Given the description of an element on the screen output the (x, y) to click on. 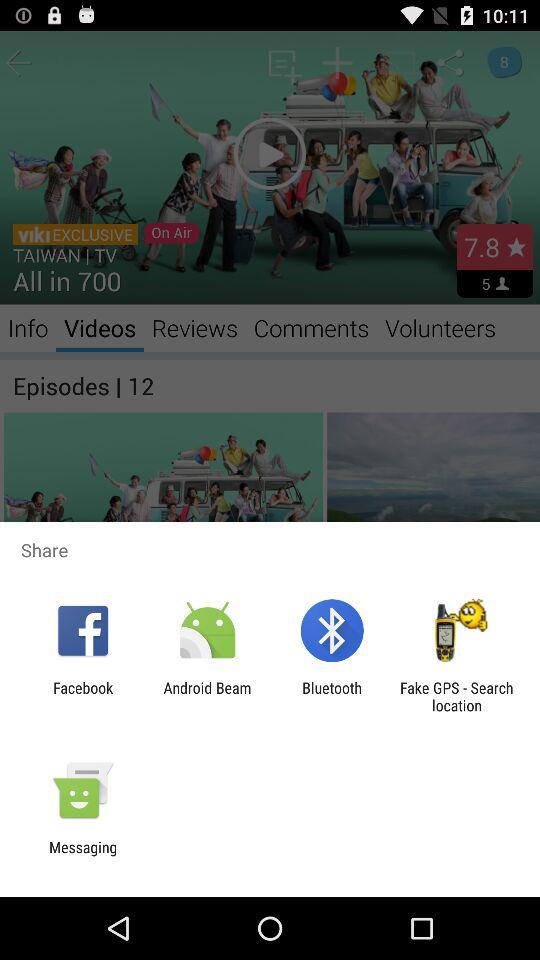
press icon next to android beam app (331, 696)
